Given the description of an element on the screen output the (x, y) to click on. 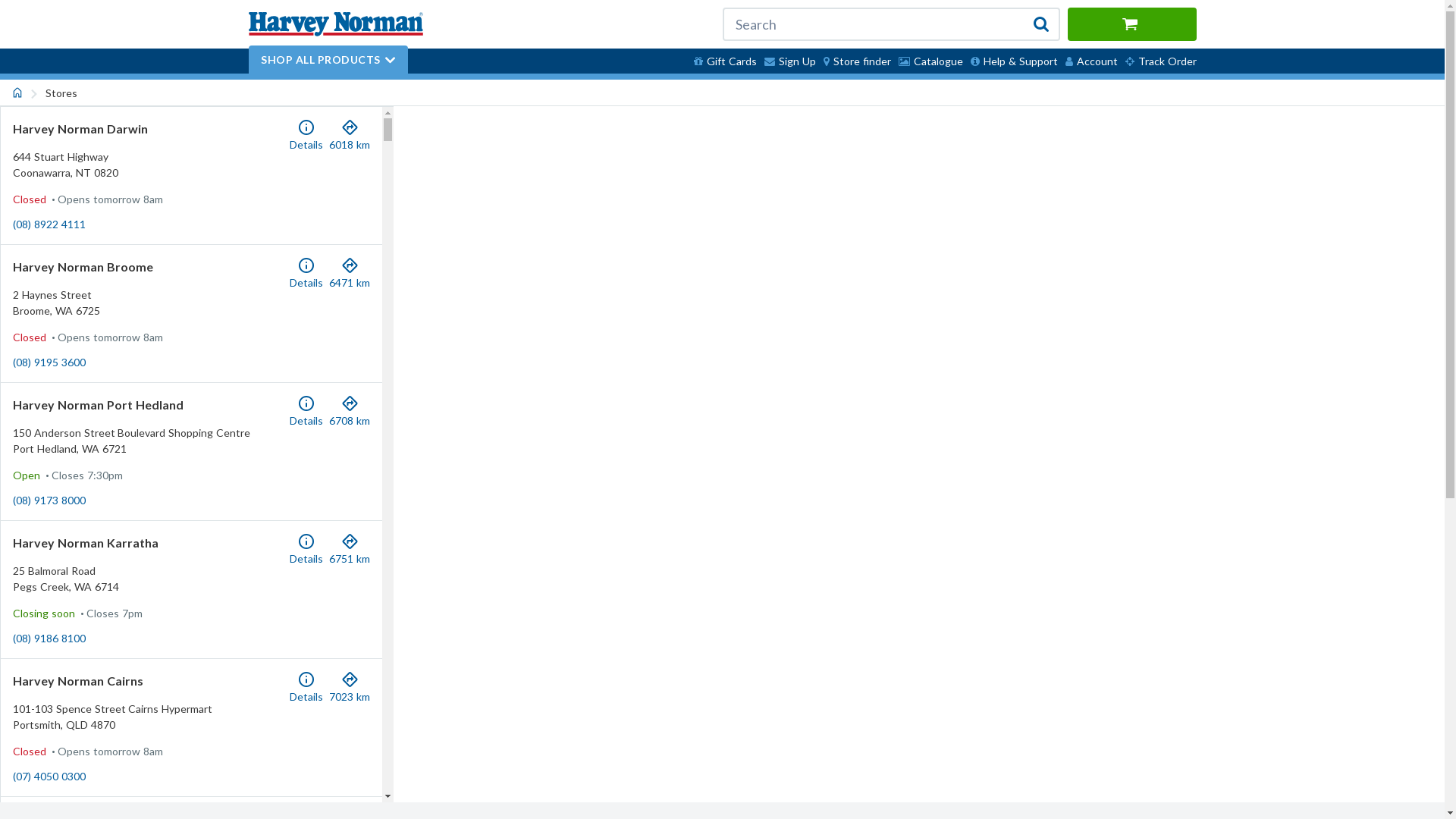
Harvey Norman Cairns Element type: text (77, 680)
Closing soon
.
Closes 7pm Element type: text (77, 613)
(07) 4050 0300 Element type: text (48, 775)
Details Element type: text (306, 135)
Help & Support Element type: text (1013, 60)
Closed
.
Opens tomorrow 8am Element type: text (87, 337)
SHOP ALL PRODUCTS Element type: text (327, 59)
Closed
.
Opens tomorrow 8am Element type: text (87, 751)
Account Element type: text (1091, 60)
(08) 8922 4111 Element type: text (48, 223)
Harvey Norman Port Hedland Element type: text (97, 404)
Harvey Norman Element type: hover (335, 23)
Sign Up Element type: text (789, 60)
(08) 9186 8100 Element type: text (48, 637)
Closed
.
Opens tomorrow 8am Element type: text (87, 199)
Store finder Element type: text (856, 60)
Details Element type: text (306, 549)
(08) 9195 3600 Element type: text (48, 361)
Open
.
Closes 7:30pm Element type: text (67, 475)
Harvey Norman Karratha Element type: text (85, 542)
Catalogue Element type: text (930, 60)
Harvey Norman Broome Element type: text (82, 266)
Search Element type: hover (890, 23)
(08) 9173 8000 Element type: text (48, 499)
Details Element type: text (306, 687)
Track Order Element type: text (1157, 60)
Details Element type: text (306, 411)
Harvey Norman Darwin Element type: text (79, 128)
Details Element type: text (306, 273)
Gift Cards Element type: text (725, 60)
